Given the description of an element on the screen output the (x, y) to click on. 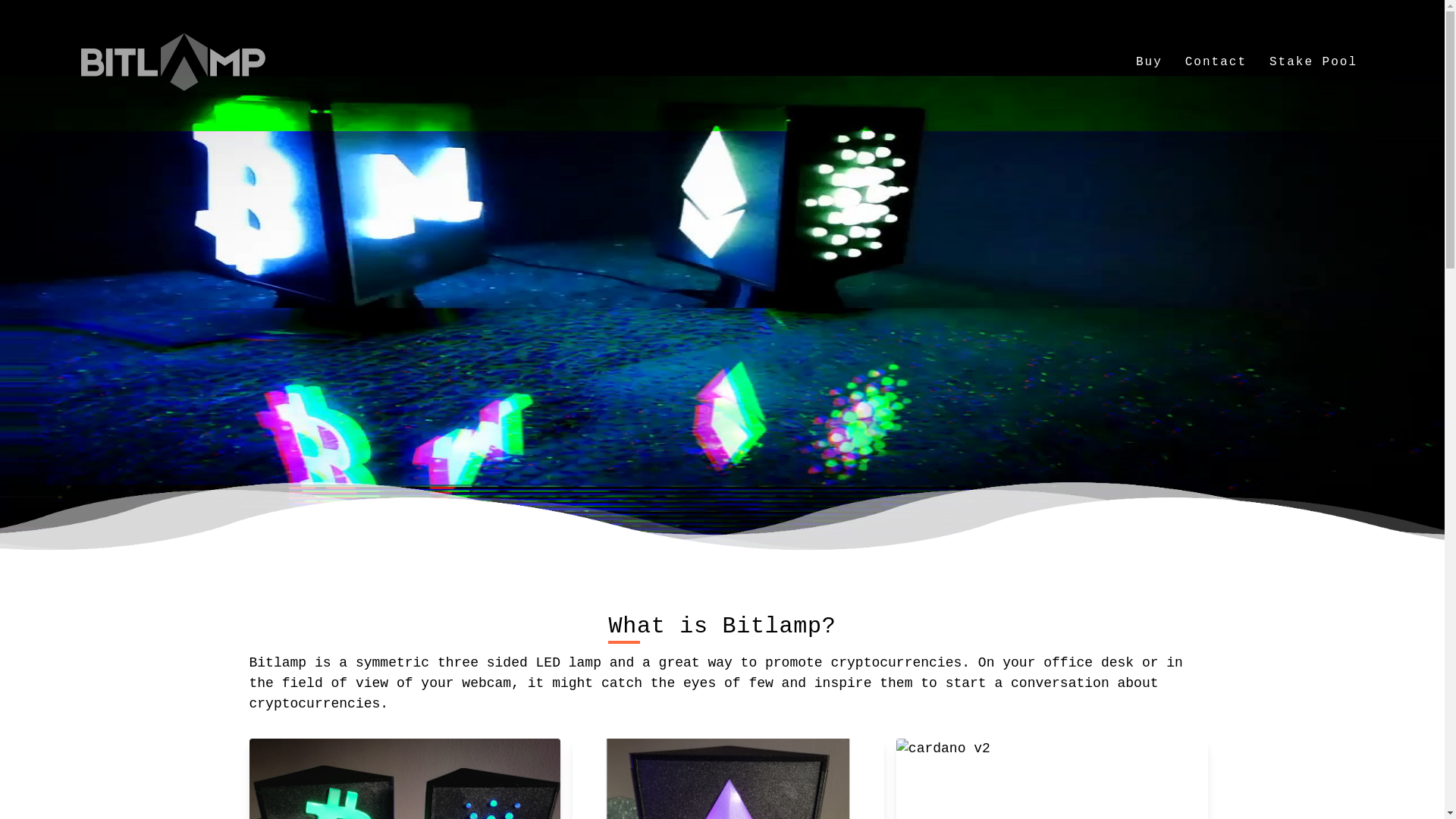
Contact Element type: text (1215, 62)
Stake Pool Element type: text (1313, 62)
Buy Element type: text (1148, 62)
